Given the description of an element on the screen output the (x, y) to click on. 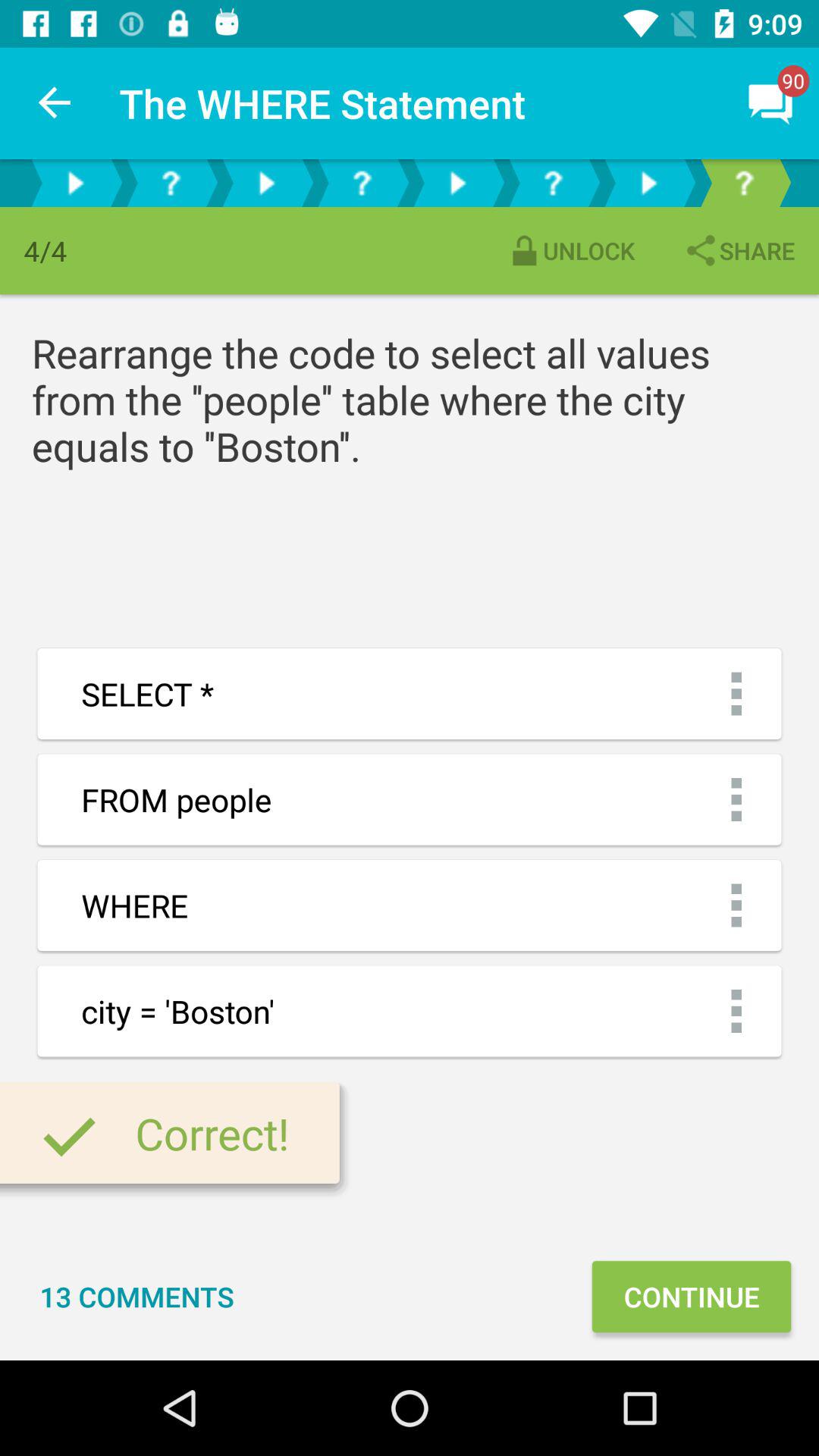
select the icon to the right of 13 comments icon (691, 1296)
